Given the description of an element on the screen output the (x, y) to click on. 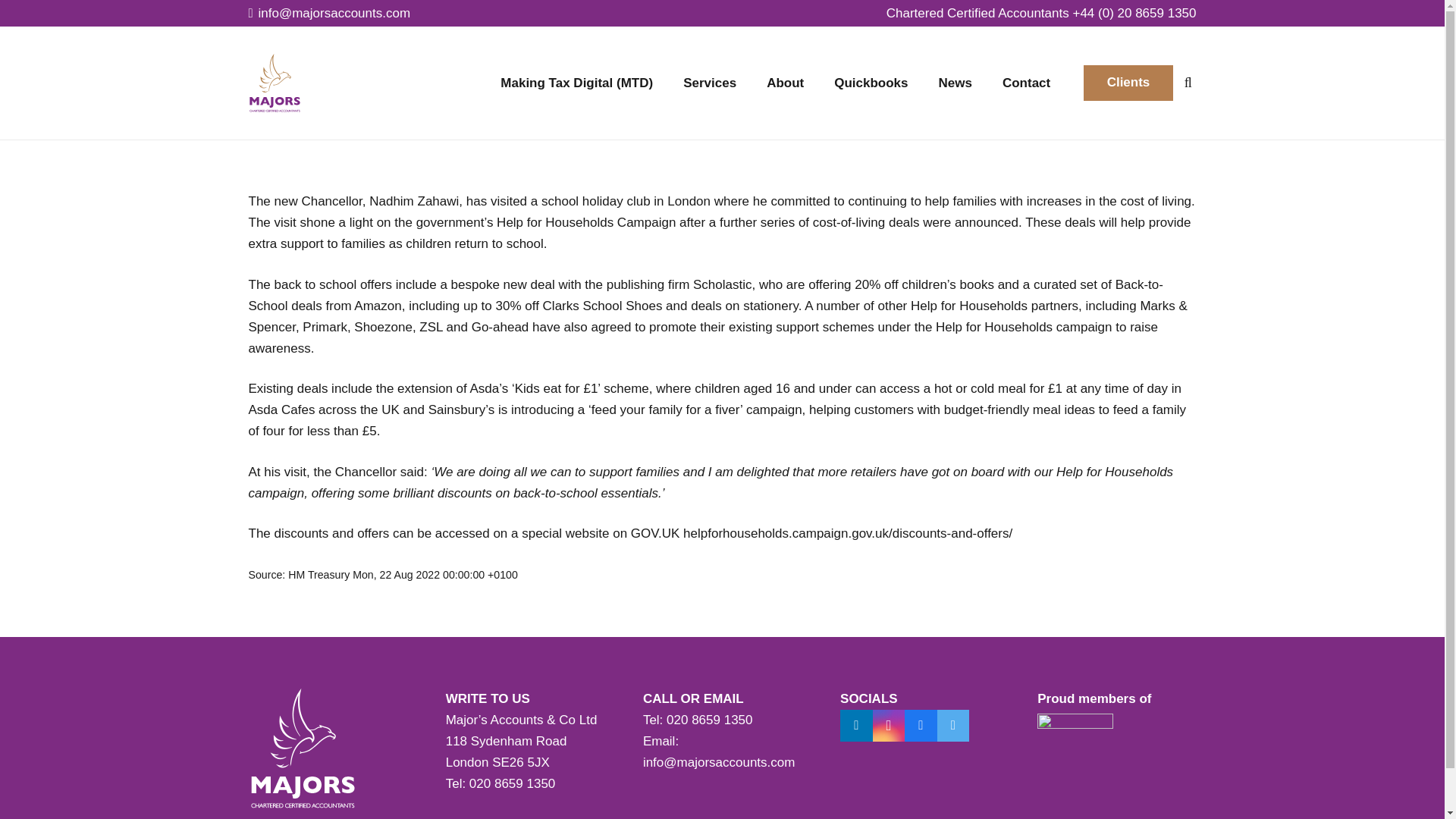
LinkedIn (856, 726)
Facebook (920, 726)
Instagram (888, 726)
Twitter (953, 726)
Clients (1128, 83)
Quickbooks (870, 82)
